Given the description of an element on the screen output the (x, y) to click on. 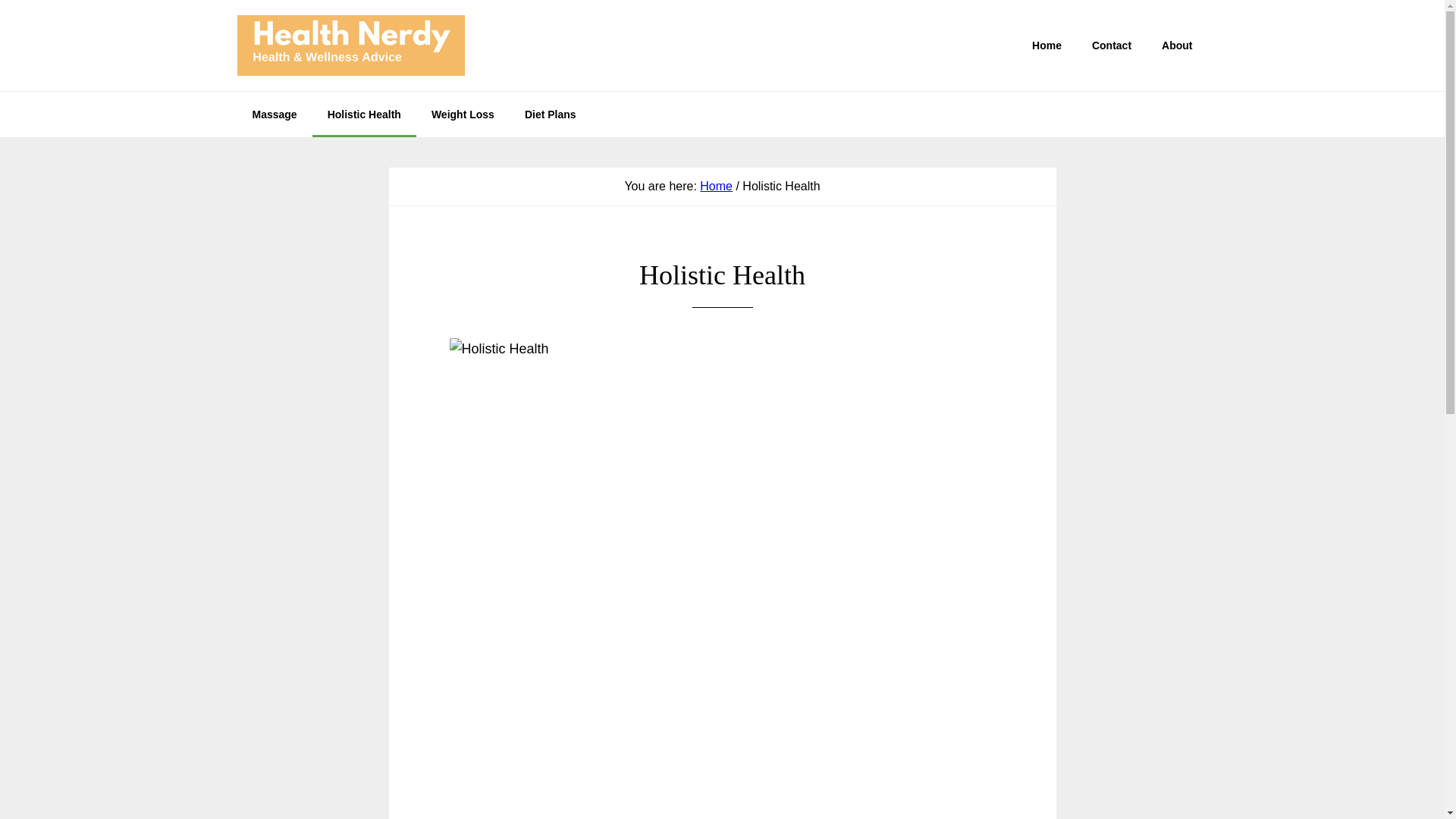
Diet Plans (550, 114)
Holistic Health (364, 114)
Weight Loss (462, 114)
Massage (273, 114)
Contact (1112, 45)
Home (716, 185)
Home (1046, 45)
About (1177, 45)
